Given the description of an element on the screen output the (x, y) to click on. 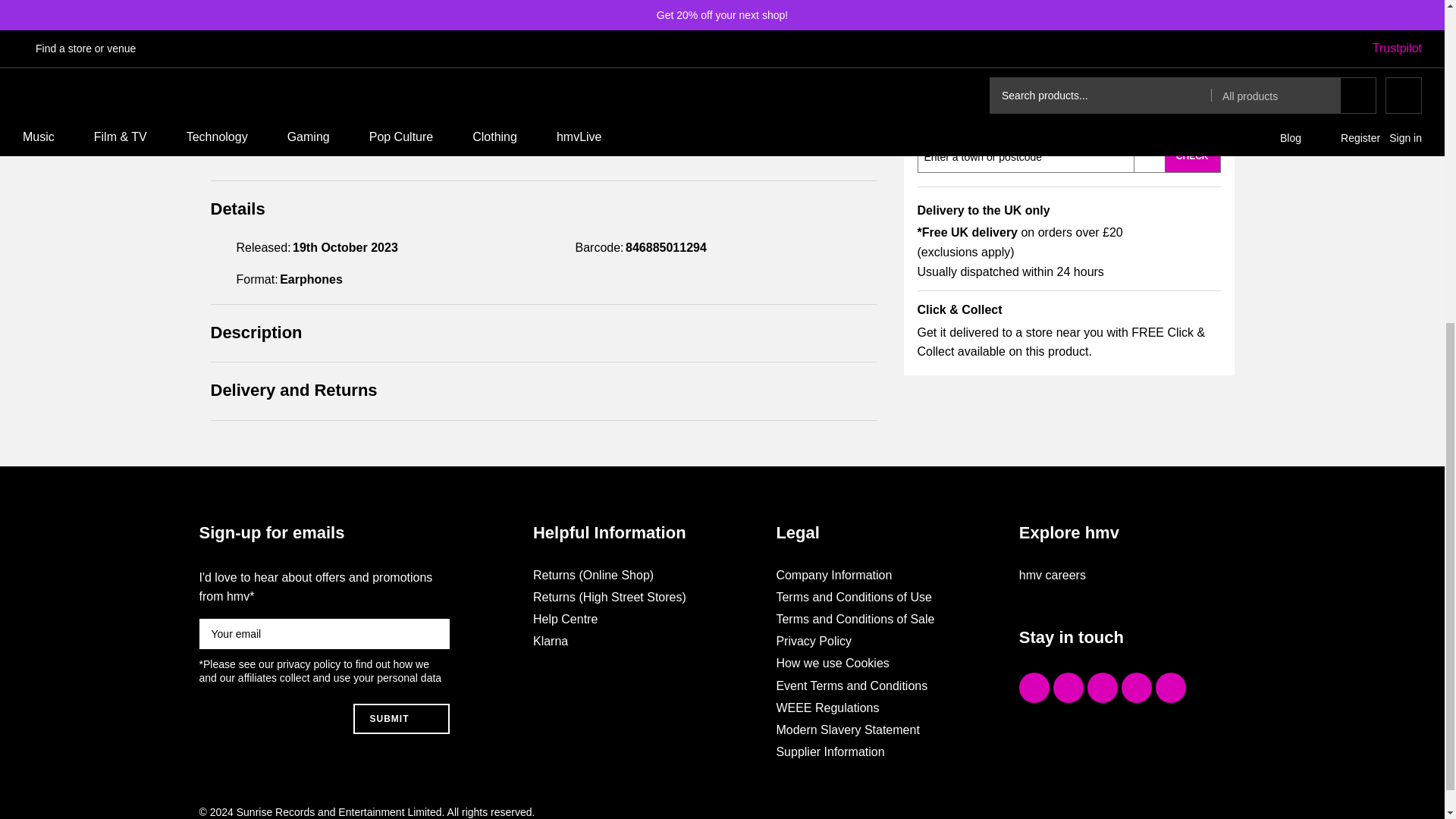
see our Cookie Policy page (575, 345)
- (922, 18)
1 (958, 18)
SET COOKIE PREFERENCES (1118, 339)
ACCEPT ALL COOKIES (1118, 302)
